Given the description of an element on the screen output the (x, y) to click on. 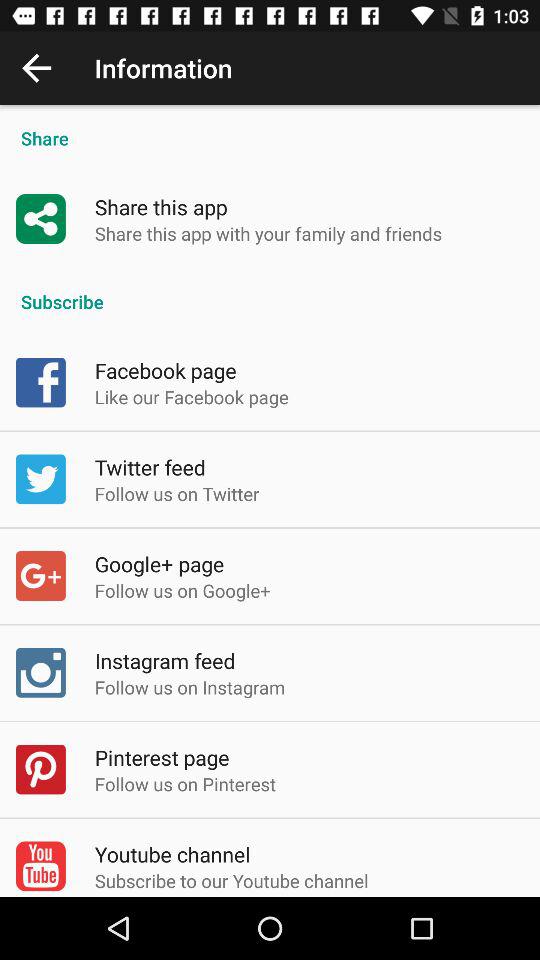
press the item next to the information item (36, 68)
